Given the description of an element on the screen output the (x, y) to click on. 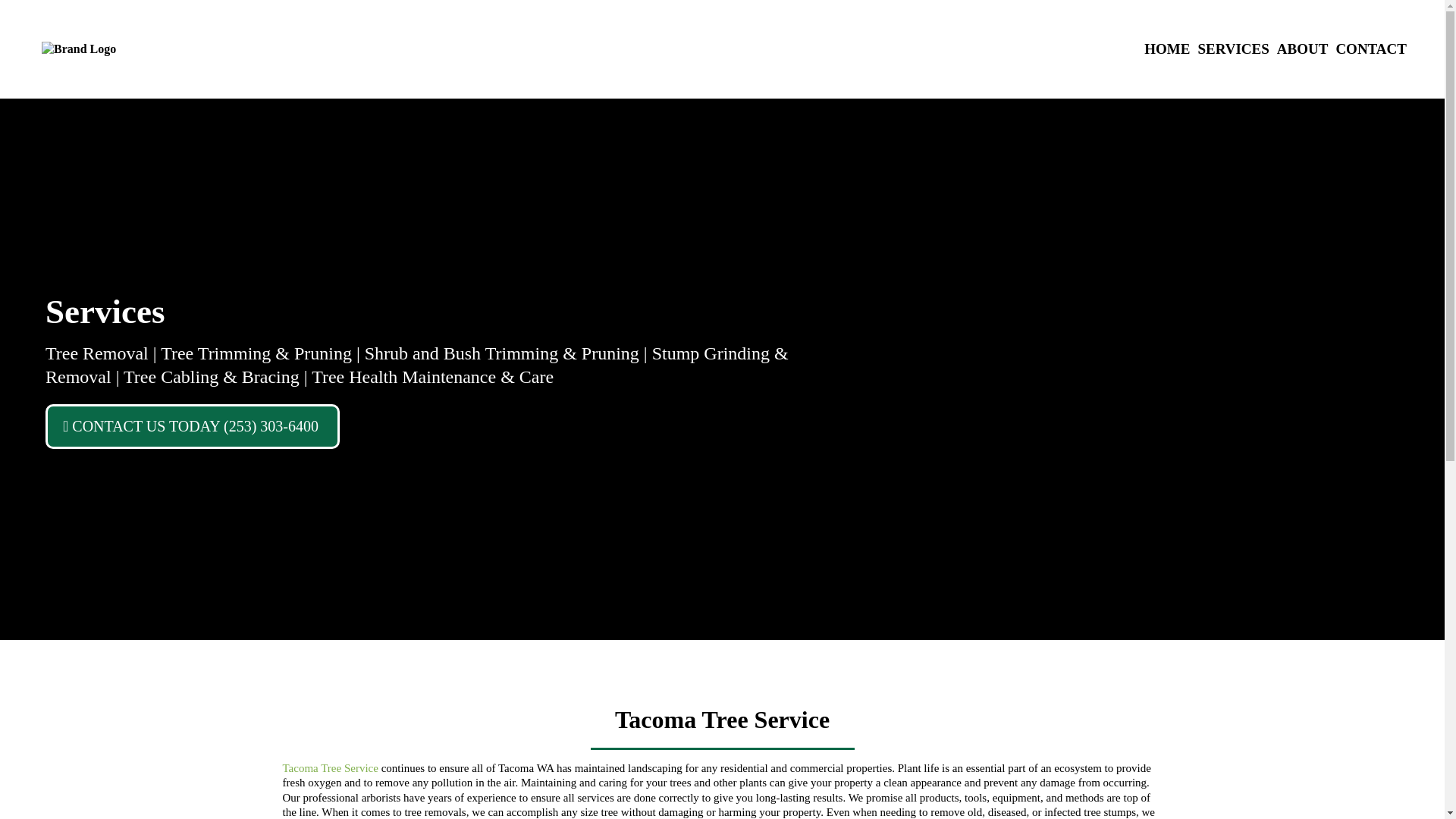
SERVICES (1232, 49)
Tacoma Tree Service (329, 767)
CONTACT (1371, 49)
HOME (1166, 49)
ABOUT (1302, 49)
